Given the description of an element on the screen output the (x, y) to click on. 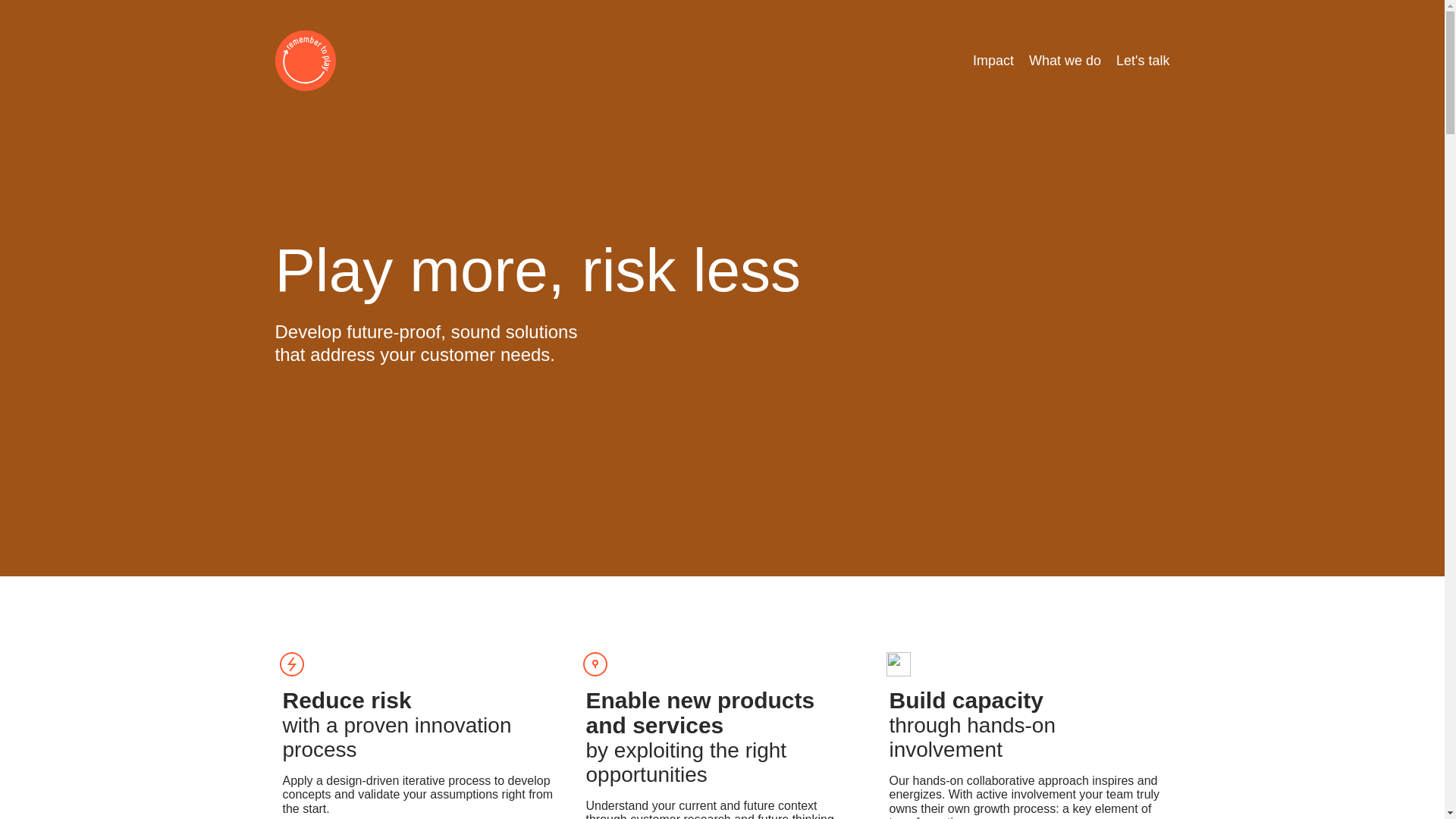
Let's talk (1142, 60)
Impact (992, 60)
What we do (1064, 60)
